Given the description of an element on the screen output the (x, y) to click on. 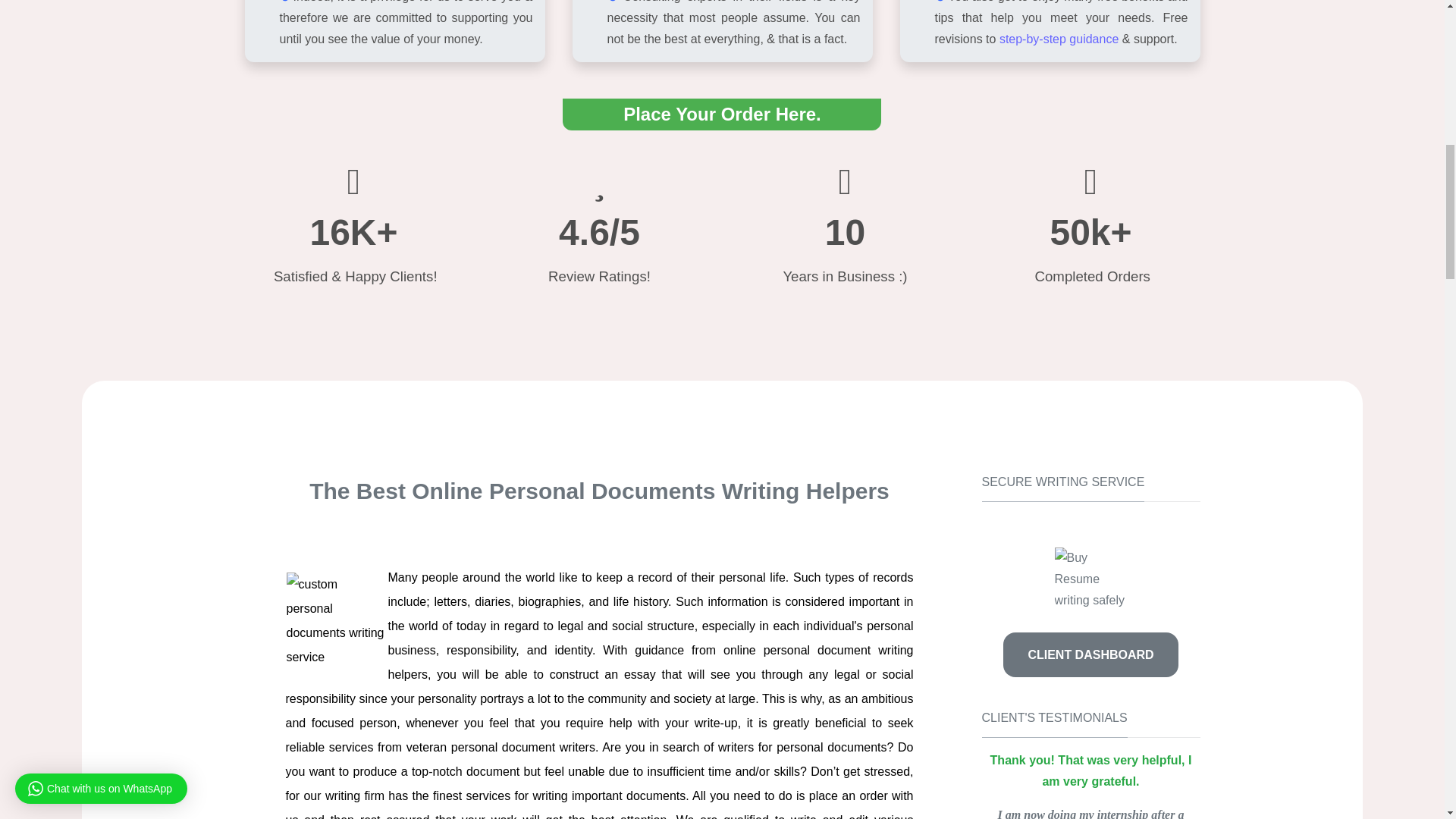
step-by-step guidance (1058, 38)
CLIENT DASHBOARD (1090, 654)
Place Your Order Here. (722, 115)
